Given the description of an element on the screen output the (x, y) to click on. 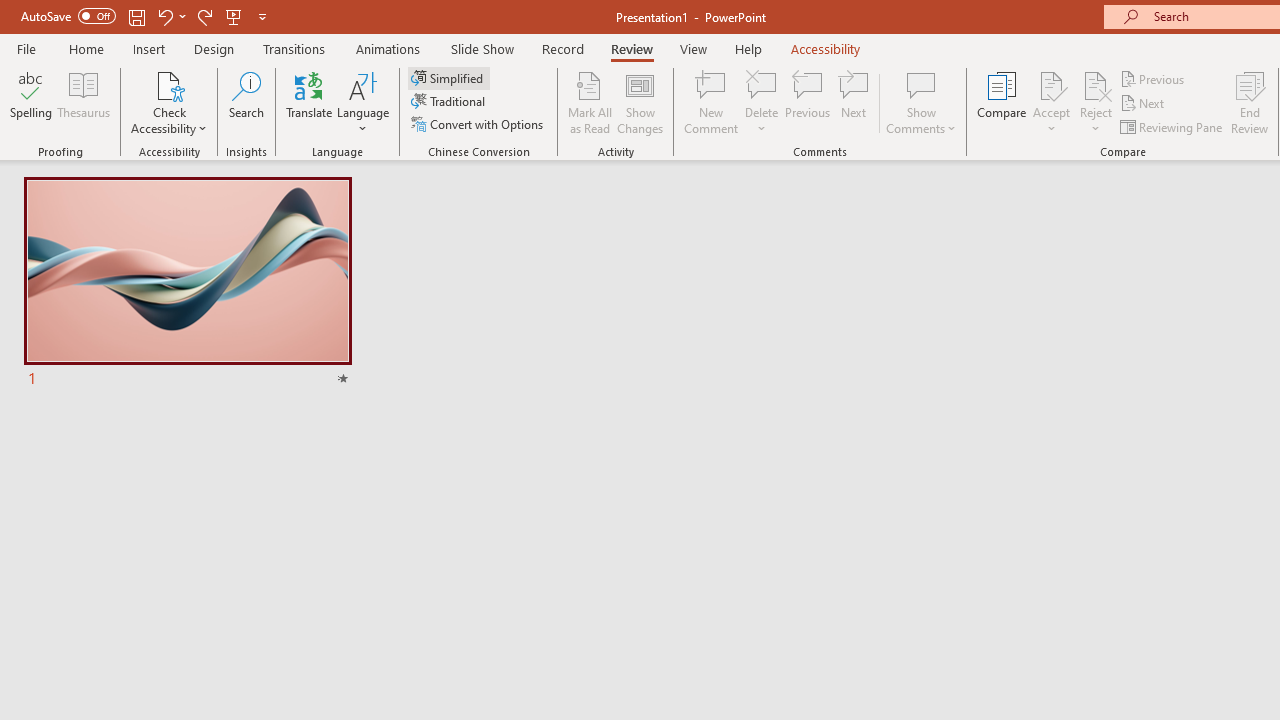
Undo (170, 15)
Accept Change (1051, 84)
Save (136, 15)
Redo (204, 15)
File Tab (26, 48)
AutoSave (68, 16)
